Given the description of an element on the screen output the (x, y) to click on. 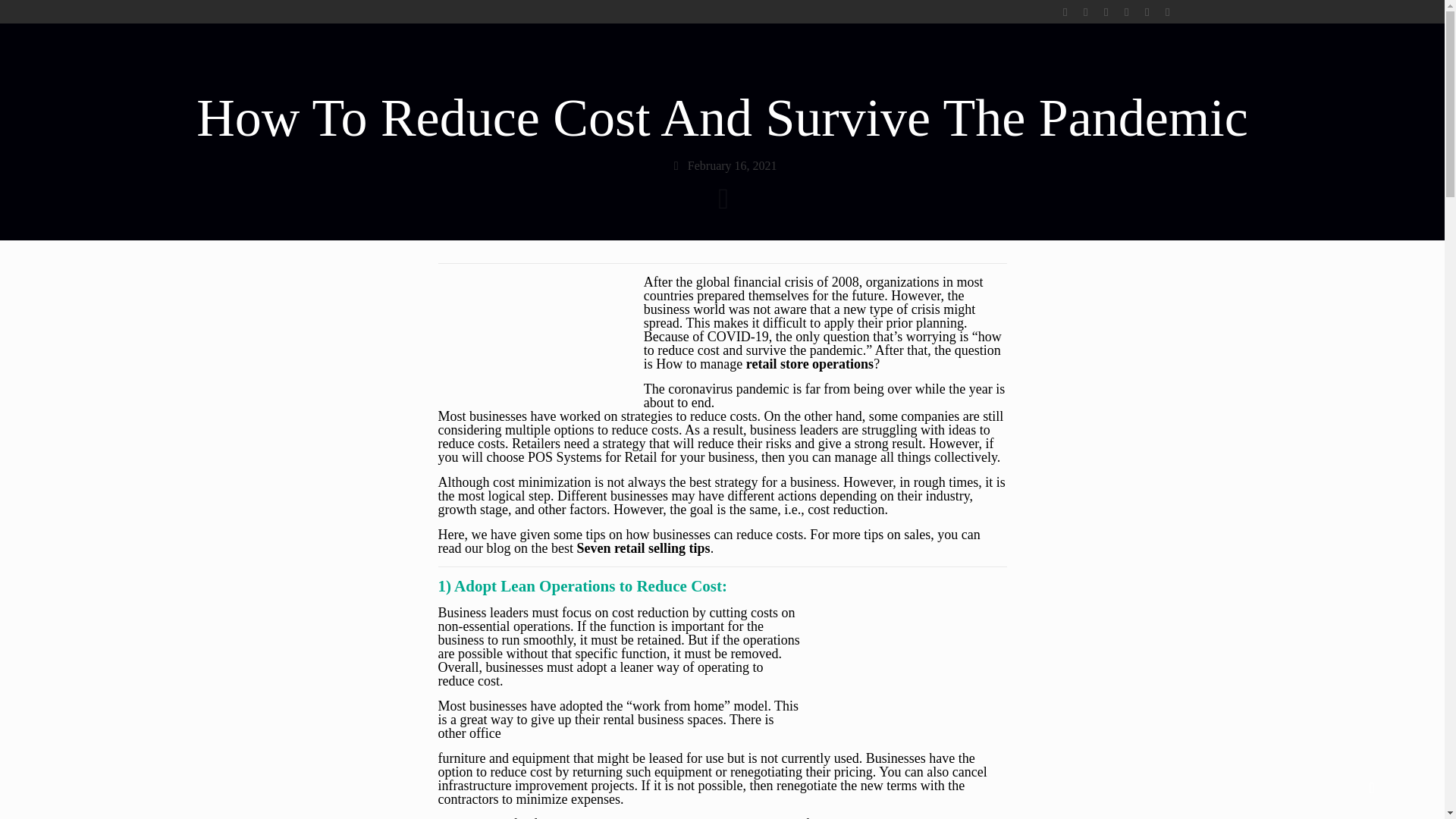
Facebook (1065, 11)
Adopt Lean Operations To Reduce Cost (915, 666)
Reduce Cost And Survive The Pandemic (529, 335)
Twitter (1085, 11)
Instagram (1166, 11)
LinkedIn (1126, 11)
Pinterest (1146, 11)
YouTube (1105, 11)
